Given the description of an element on the screen output the (x, y) to click on. 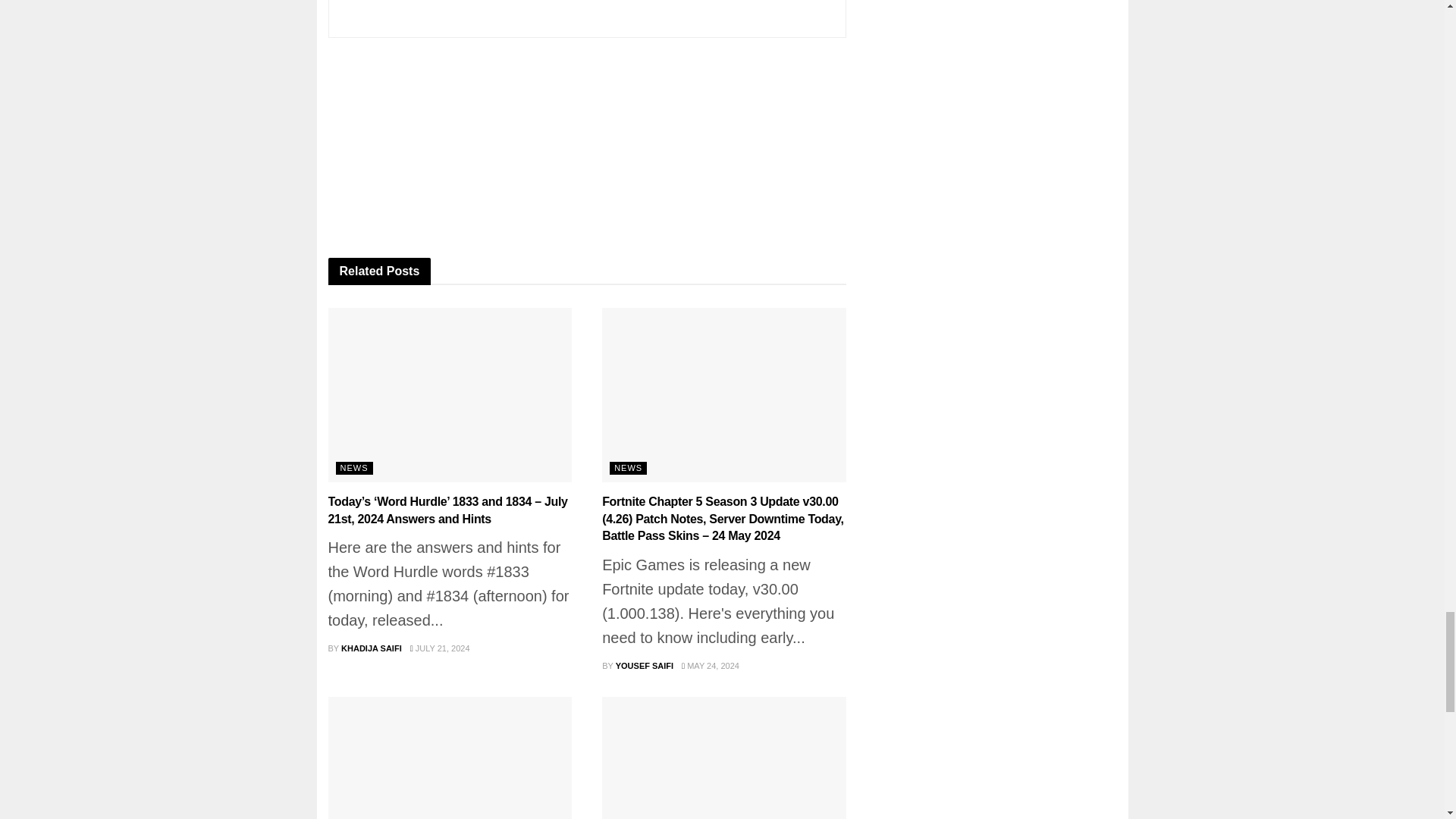
JULY 21, 2024 (440, 647)
YOUSEF SAIFI (643, 665)
NEWS (353, 468)
MAY 24, 2024 (710, 665)
KHADIJA SAIFI (370, 647)
NEWS (628, 468)
